Given the description of an element on the screen output the (x, y) to click on. 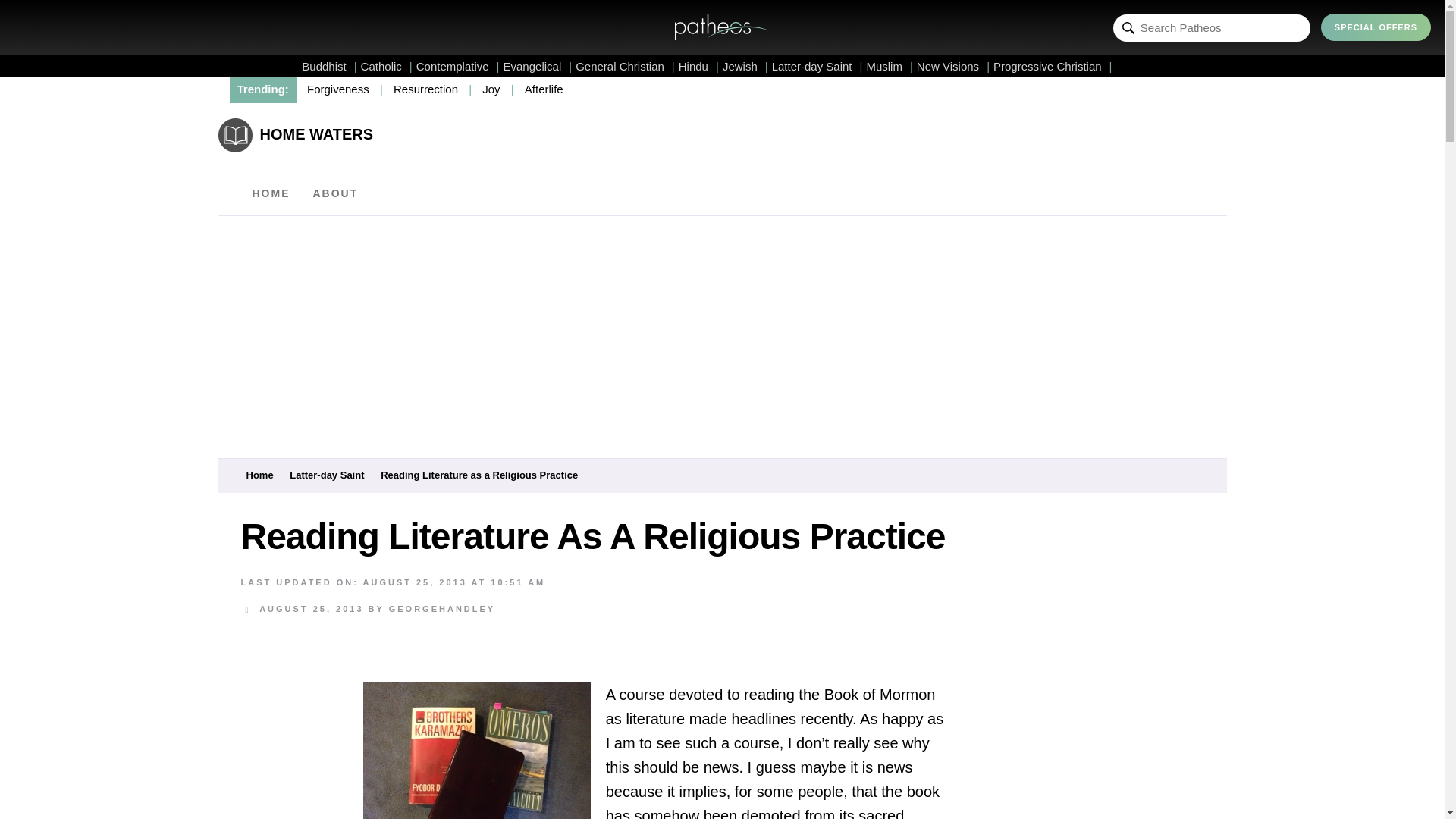
Muslim (889, 65)
Buddhist (328, 65)
Contemplative (457, 65)
SPECIAL OFFERS (1375, 26)
New Visions (953, 65)
Latter-day Saint (817, 65)
Progressive Christian (1052, 65)
Catholic (386, 65)
Jewish (745, 65)
Evangelical (537, 65)
General Christian (625, 65)
Hindu (698, 65)
